Given the description of an element on the screen output the (x, y) to click on. 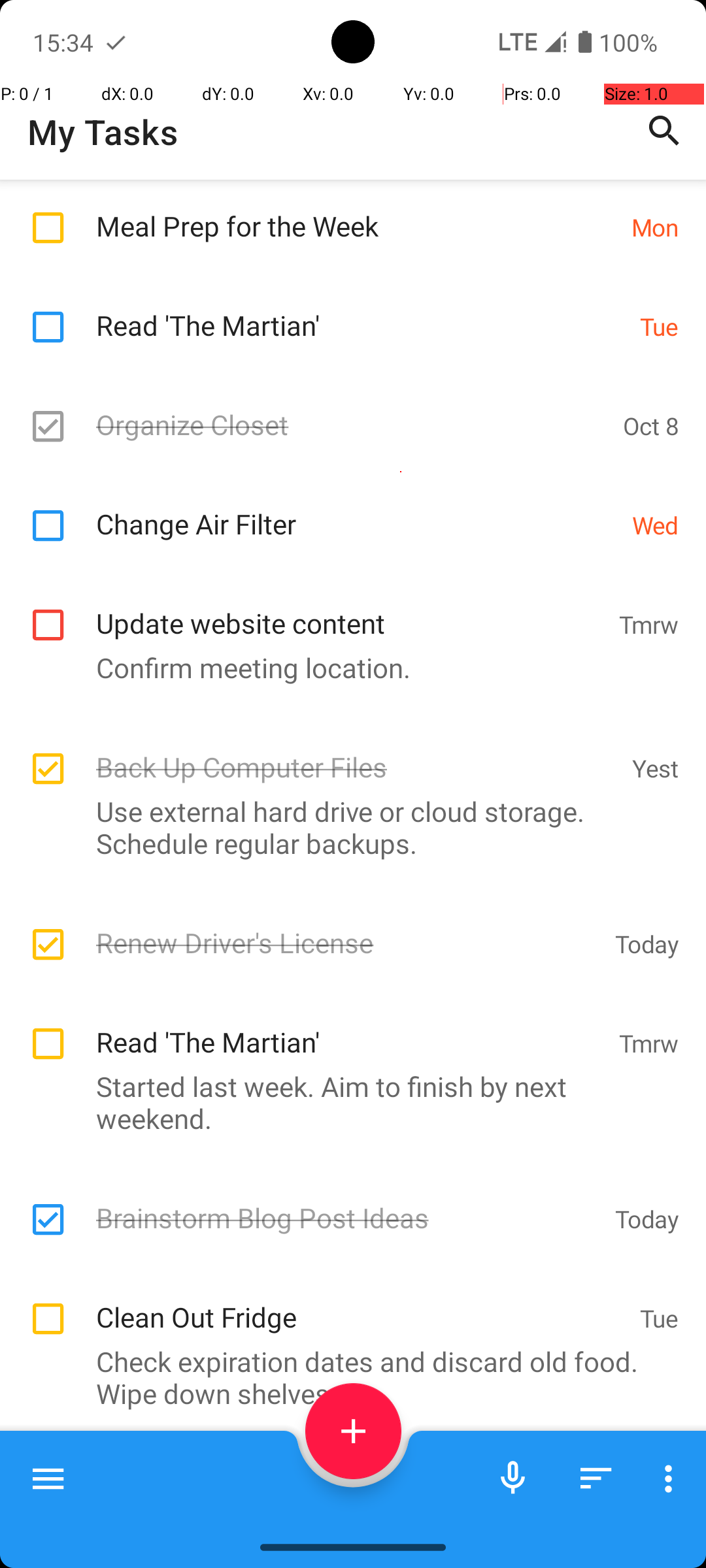
Update website content Element type: android.widget.TextView (350, 608)
Confirm meeting location. Element type: android.widget.TextView (346, 667)
Use external hard drive or cloud storage. Schedule regular backups. Element type: android.widget.TextView (346, 826)
